Given the description of an element on the screen output the (x, y) to click on. 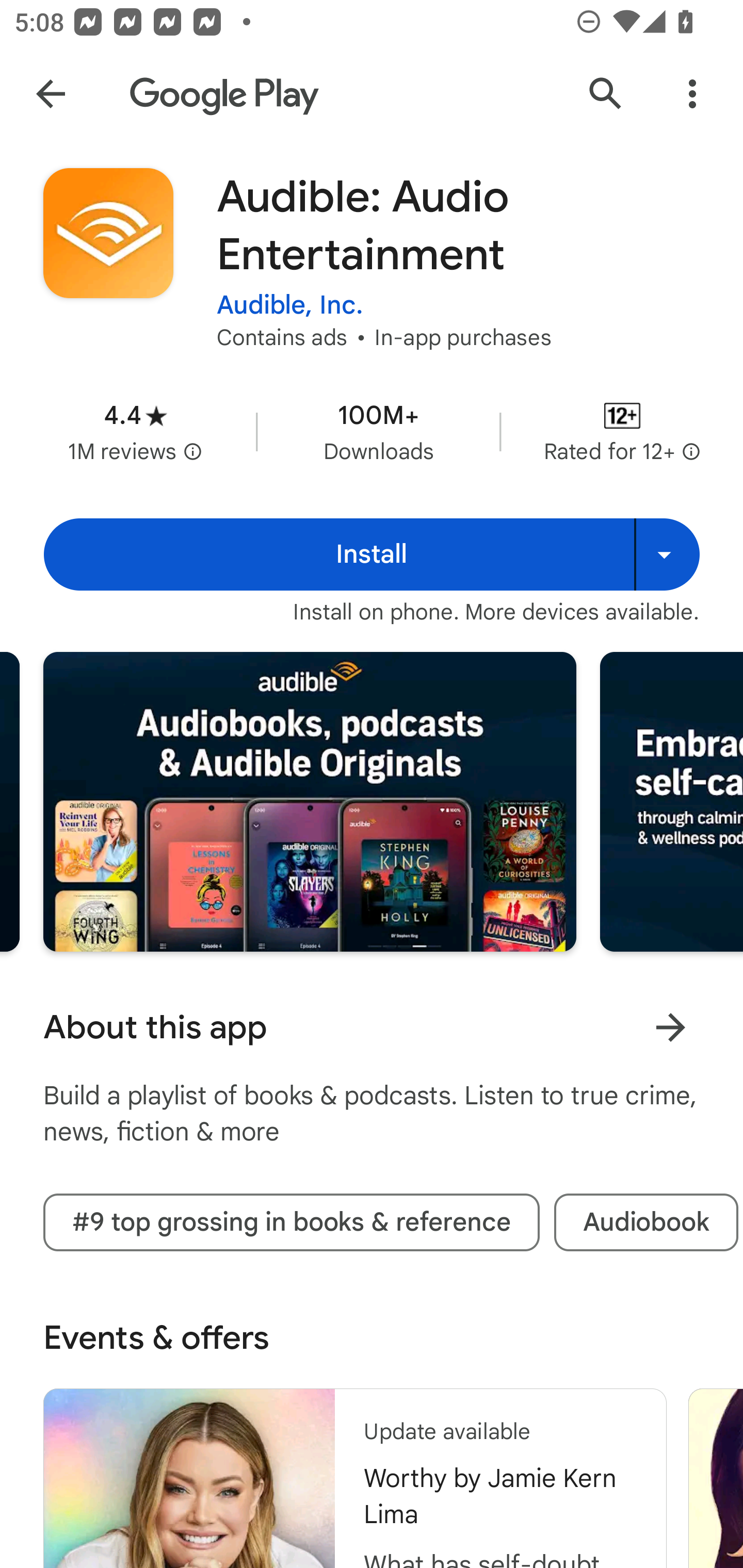
Navigate up (50, 93)
Search Google Play (605, 93)
More Options (692, 93)
Audible, Inc. (290, 304)
Average rating 4.4 stars in 1 million reviews (135, 431)
Content rating Rated for 12+ (622, 431)
Install Install Install on more devices (371, 554)
Install on more devices (667, 554)
Screenshot "1" of "8" (309, 801)
About this app Learn more About this app (371, 1027)
Learn more About this app (670, 1027)
#9 top grossing in books & reference tag (291, 1222)
Audiobook tag (646, 1222)
